Given the description of an element on the screen output the (x, y) to click on. 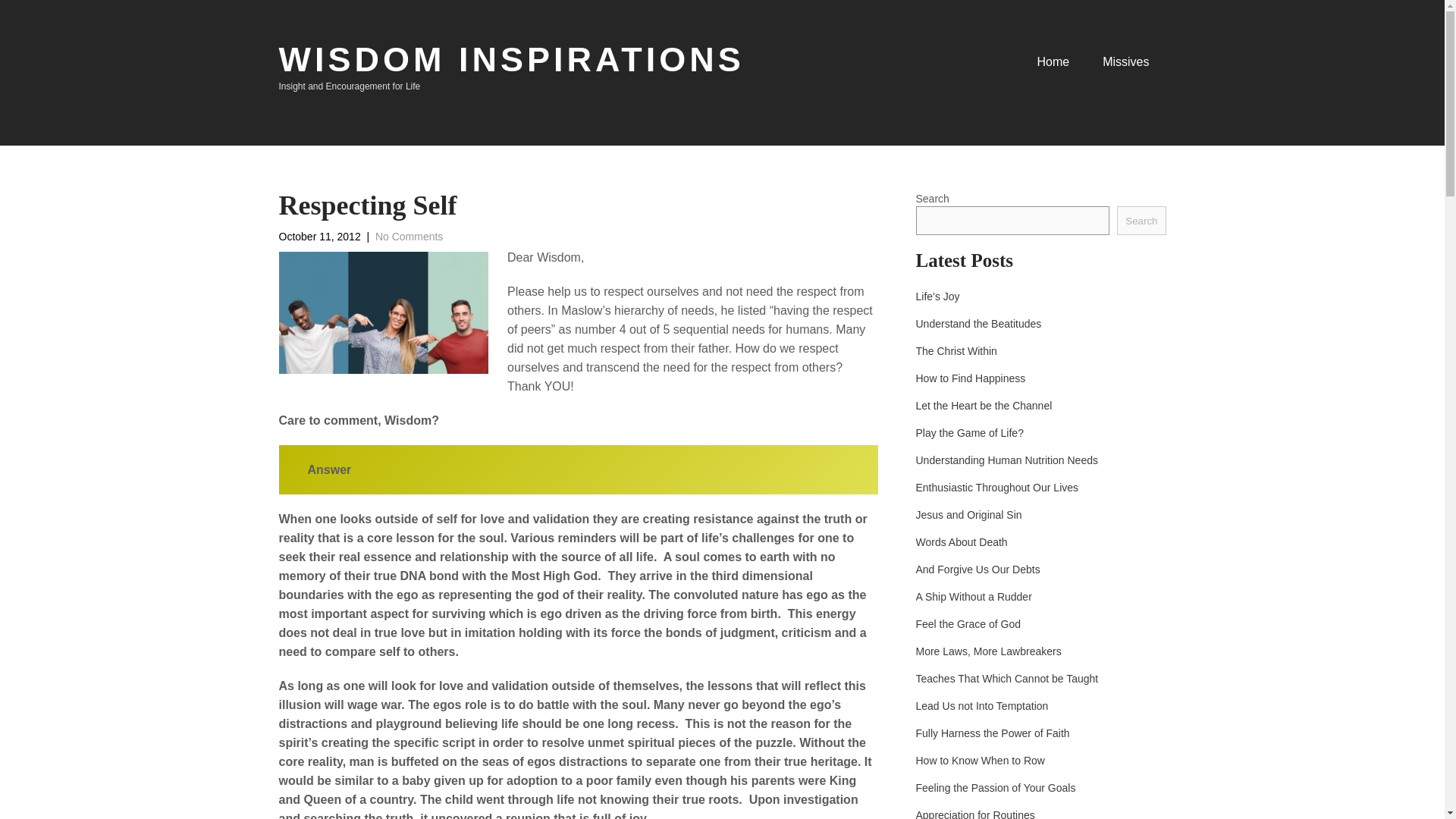
How to Know When to Row (980, 759)
No Comments (408, 236)
Fully Harness the Power of Faith (992, 732)
A Ship Without a Rudder (973, 595)
Understand the Beatitudes (978, 322)
How to Find Happiness (970, 377)
Home (1053, 67)
The Christ Within (956, 350)
Enthusiastic Throughout Our Lives (996, 486)
Let the Heart be the Channel (983, 404)
Words About Death (961, 540)
Lead Us not Into Temptation (981, 704)
Search (1141, 220)
More Laws, More Lawbreakers (988, 650)
Play the Game of Life? (969, 432)
